Given the description of an element on the screen output the (x, y) to click on. 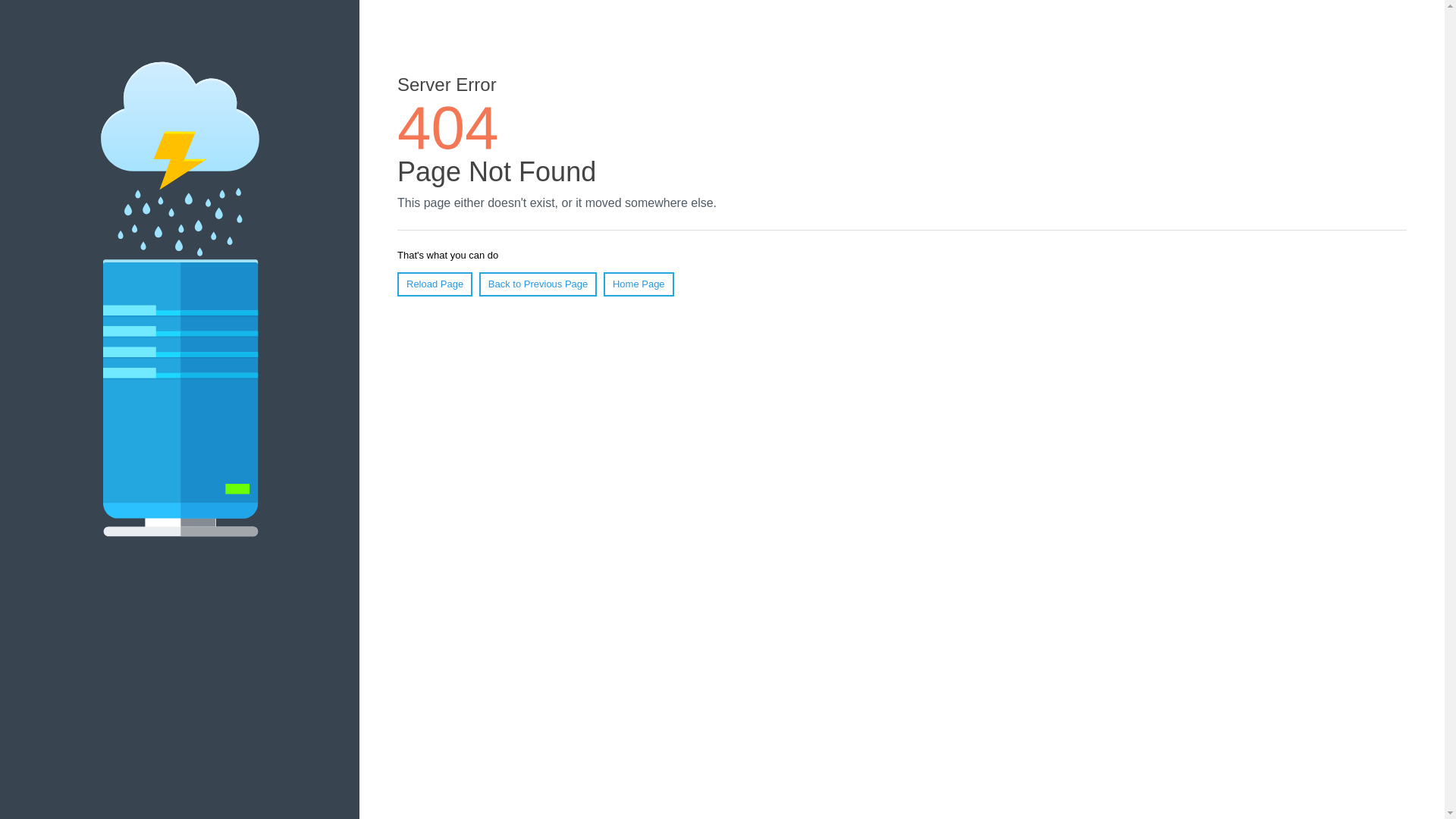
Reload Page Element type: text (434, 284)
Home Page Element type: text (638, 284)
Back to Previous Page Element type: text (538, 284)
